Given the description of an element on the screen output the (x, y) to click on. 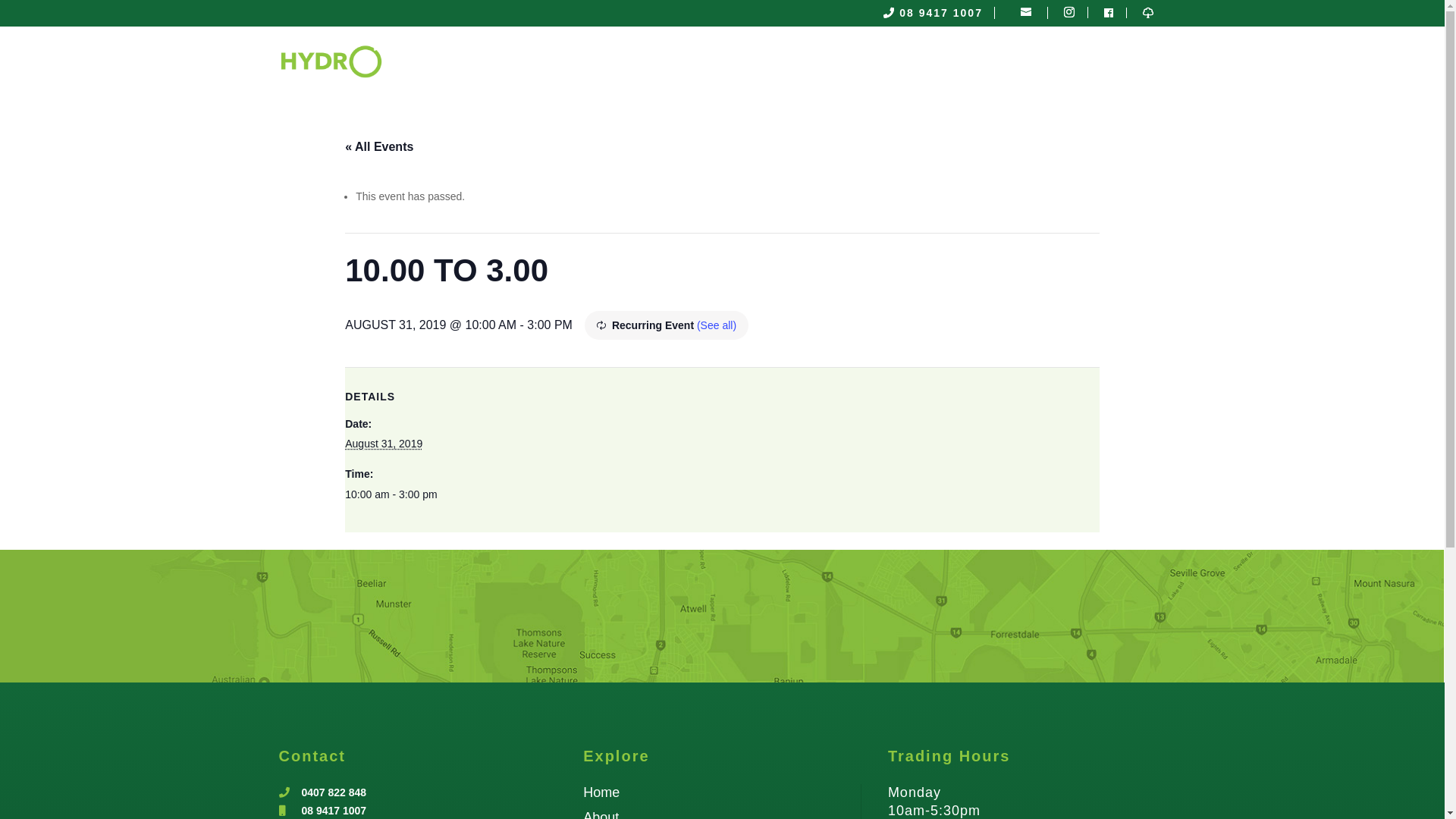
08 9417 1007 Element type: text (940, 12)
CONTACT Element type: text (1136, 60)
(See all) Element type: text (716, 325)
Home Element type: text (601, 792)
HOME Element type: text (759, 60)
TRADING CALENDAR Element type: text (1026, 60)
FEED CHARTS Element type: text (901, 60)
0407 822 848 Element type: text (334, 792)
08 9417 1007 Element type: text (334, 810)
ABOUT Element type: text (818, 60)
